Given the description of an element on the screen output the (x, y) to click on. 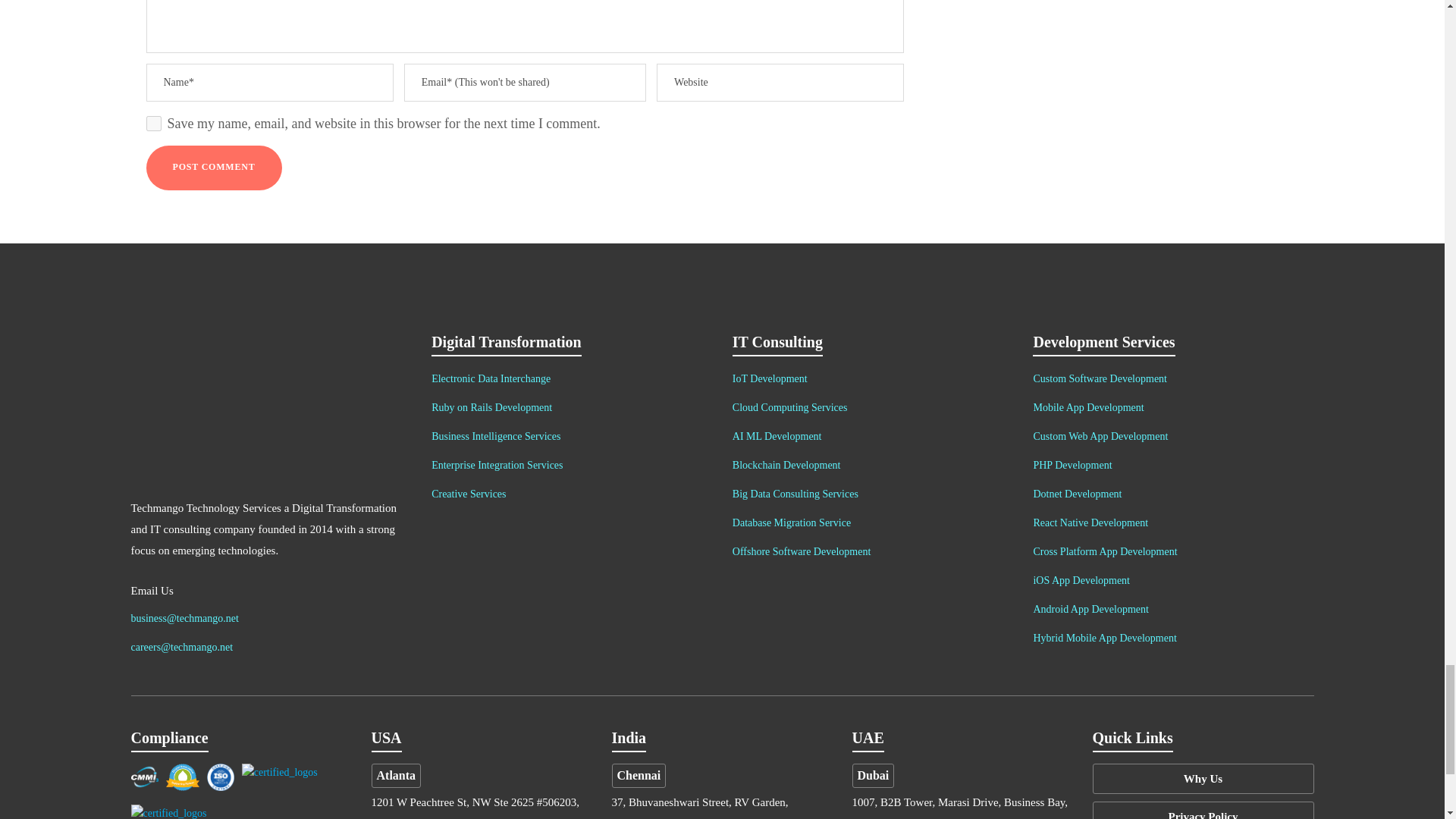
yes (152, 123)
Post Comment (213, 167)
